Given the description of an element on the screen output the (x, y) to click on. 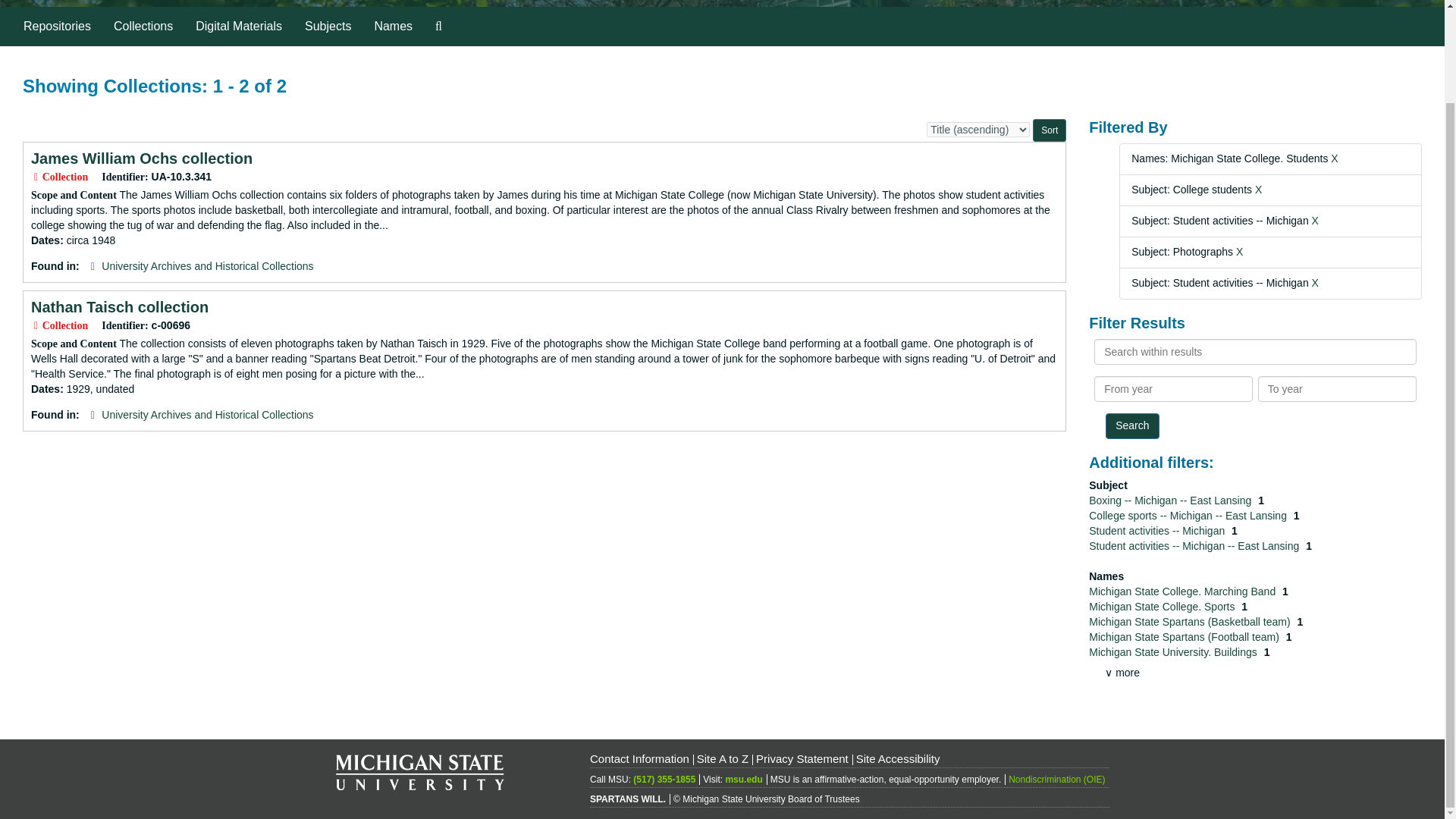
Michigan State College. Marching Band (1183, 591)
Search (1131, 425)
Filter By 'Michigan State University. Buildings' (1174, 652)
College sports -- Michigan -- East Lansing (1189, 515)
Filter By 'Student activities -- Michigan -- East Lansing' (1195, 545)
Search The Archives (437, 26)
X (1334, 158)
Subjects (328, 26)
Boxing -- Michigan -- East Lansing (1171, 500)
Michigan State College. Sports (1163, 606)
X (1315, 282)
Search (1131, 425)
X (1239, 251)
Filter By 'Michigan State College. Marching Band' (1183, 591)
Sort (1048, 129)
